Given the description of an element on the screen output the (x, y) to click on. 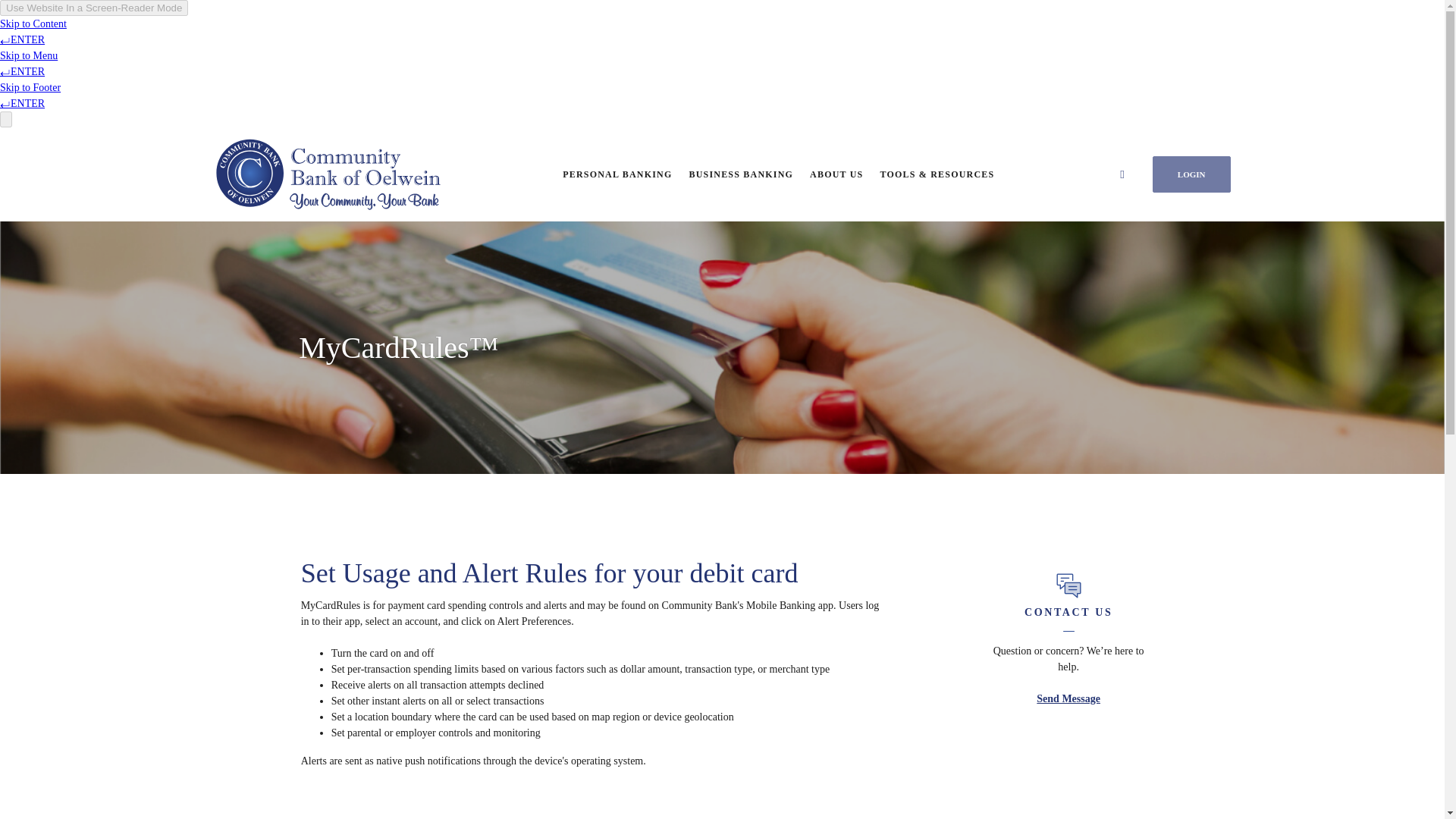
Community Bank of Oelwein, Oelwein, IA (327, 173)
Send Message (1068, 698)
LOGIN (1191, 174)
